Given the description of an element on the screen output the (x, y) to click on. 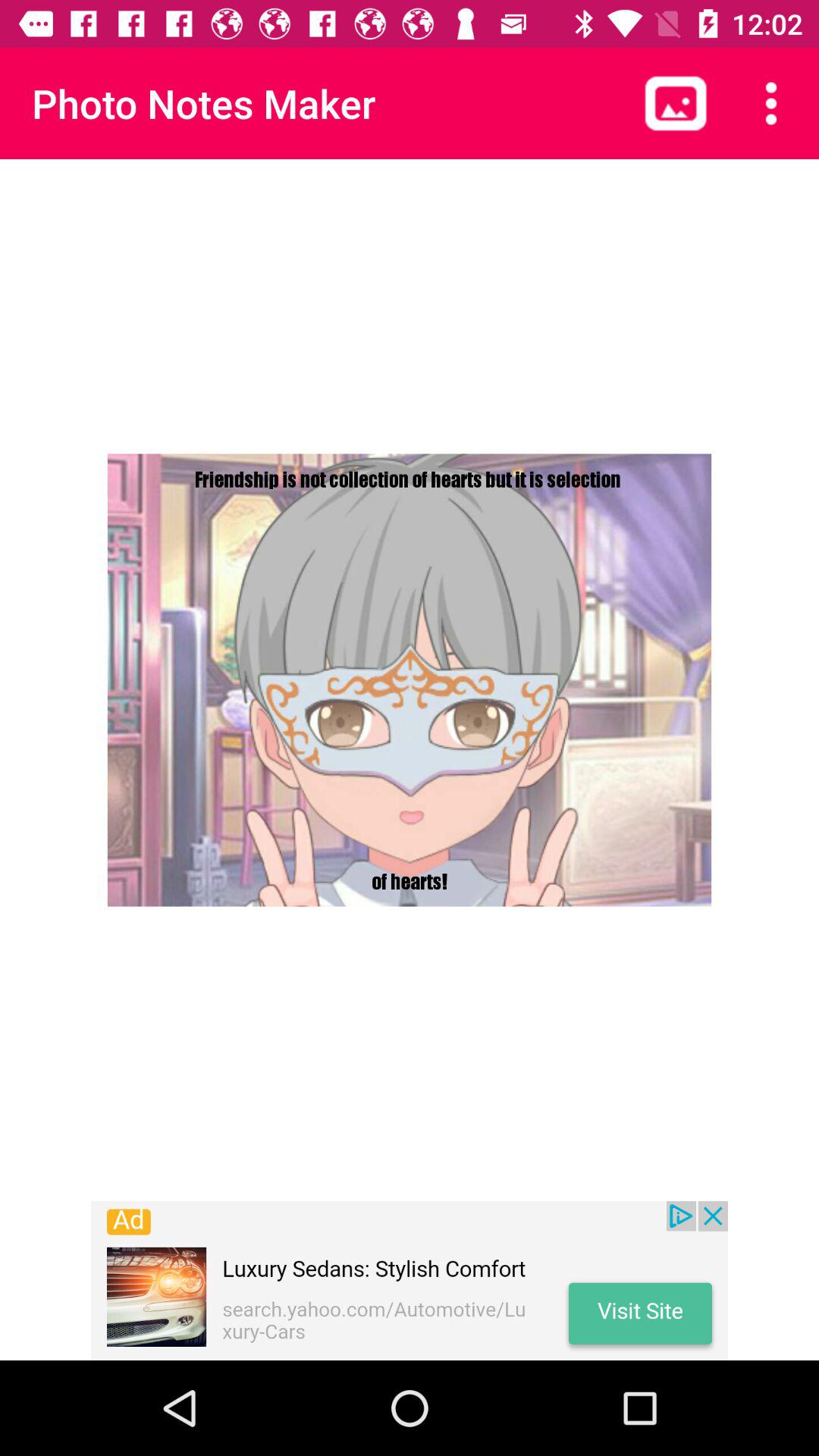
open advertisement (409, 1280)
